Given the description of an element on the screen output the (x, y) to click on. 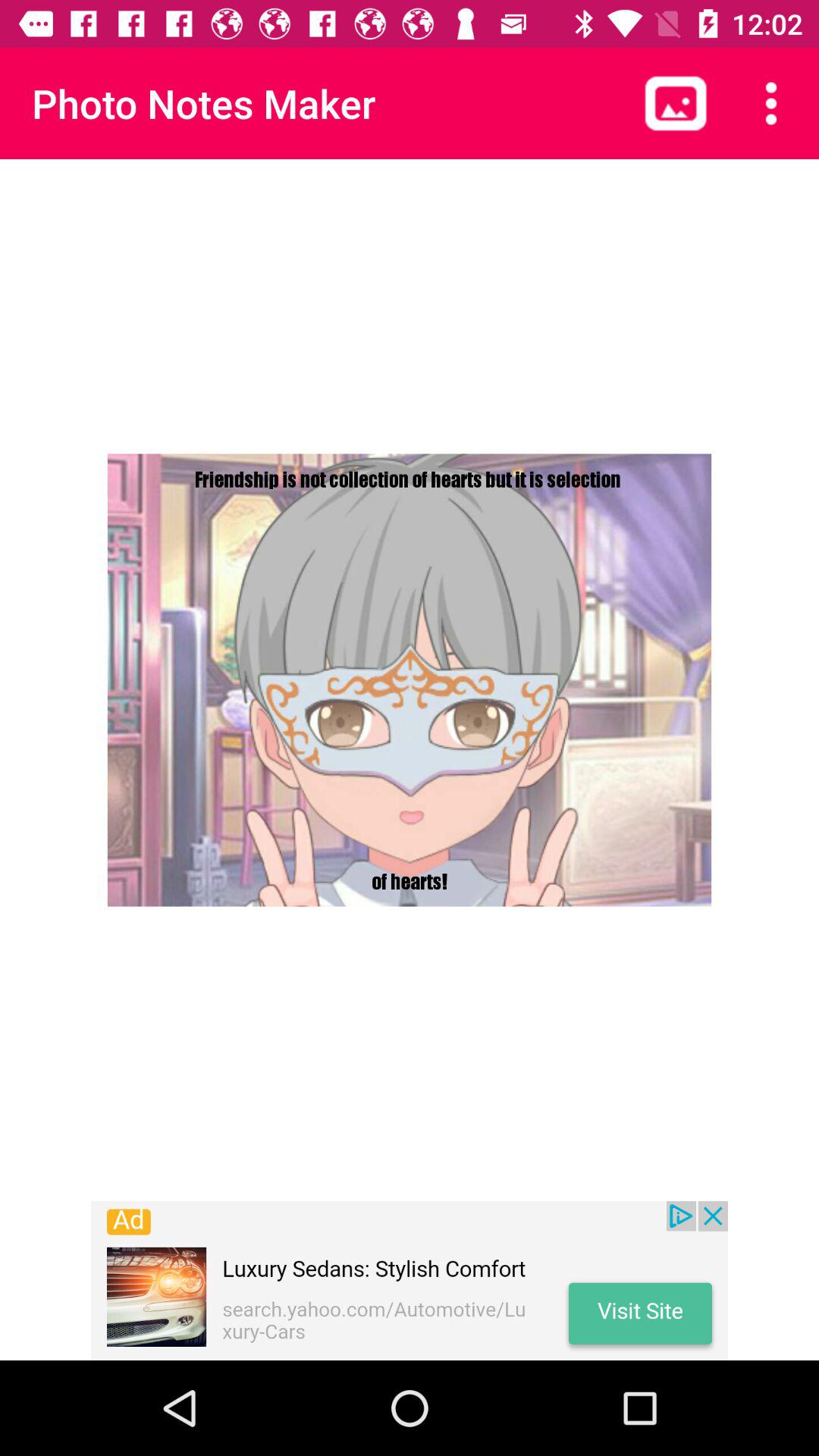
open advertisement (409, 1280)
